Given the description of an element on the screen output the (x, y) to click on. 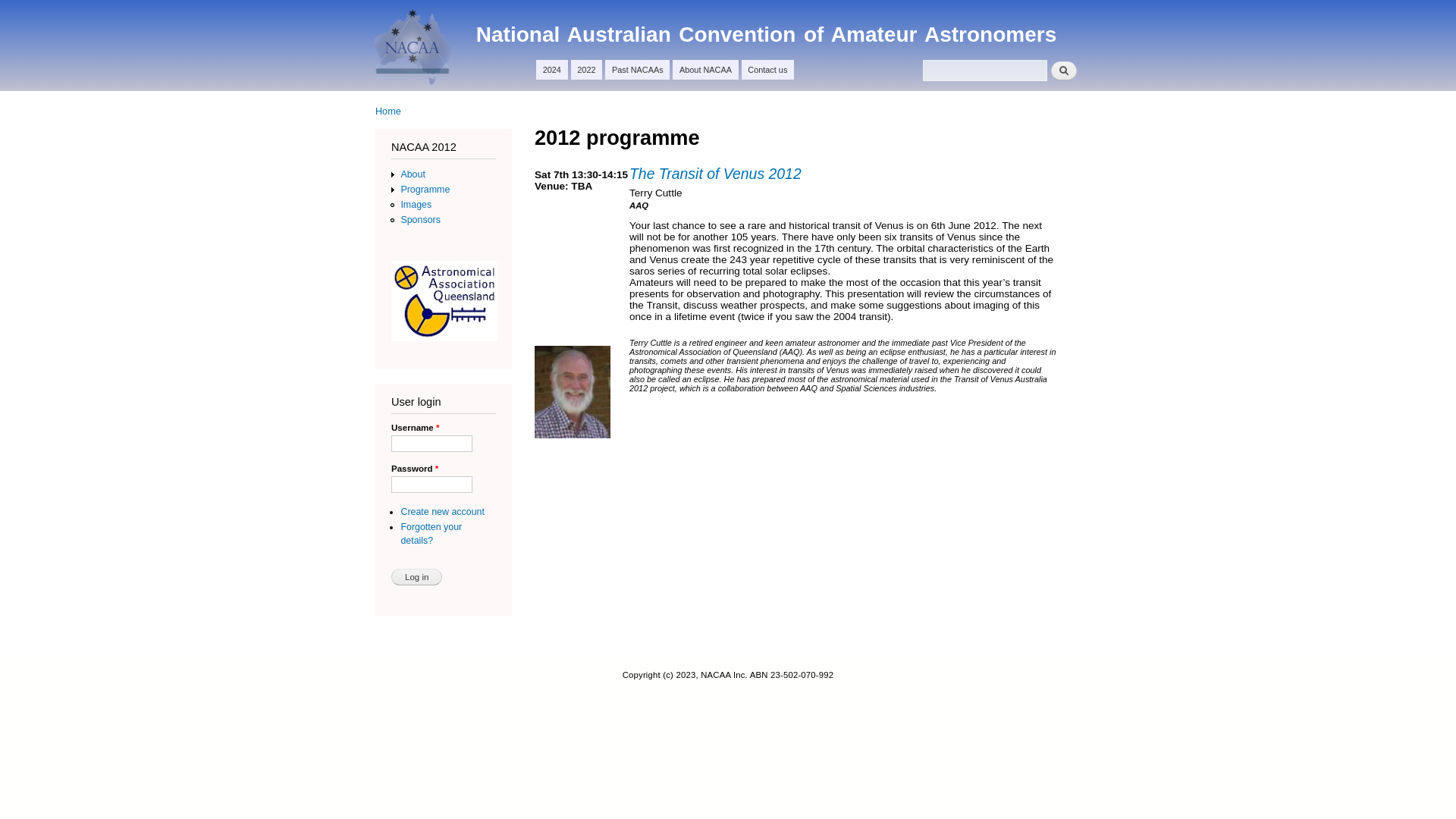
Home Element type: text (388, 111)
Skip to main content Element type: text (697, 1)
Create new account Element type: text (441, 511)
The Transit of Venus 2012 Element type: text (715, 173)
Enter the terms you wish to search for. Element type: hover (984, 70)
About NACAA Element type: text (704, 69)
Search Element type: text (1063, 70)
About Element type: text (412, 174)
Log in Element type: text (416, 576)
Programme Element type: text (424, 189)
2024 Element type: text (551, 69)
Past NACAAs Element type: text (637, 69)
Images Element type: text (415, 204)
Forgotten your details? Element type: text (430, 533)
2022 Element type: text (586, 69)
Contact us Element type: text (767, 69)
NACAA Element type: text (508, 31)
Home Element type: hover (414, 50)
Sponsors Element type: text (419, 219)
Terry Cuttle Element type: hover (572, 391)
